Given the description of an element on the screen output the (x, y) to click on. 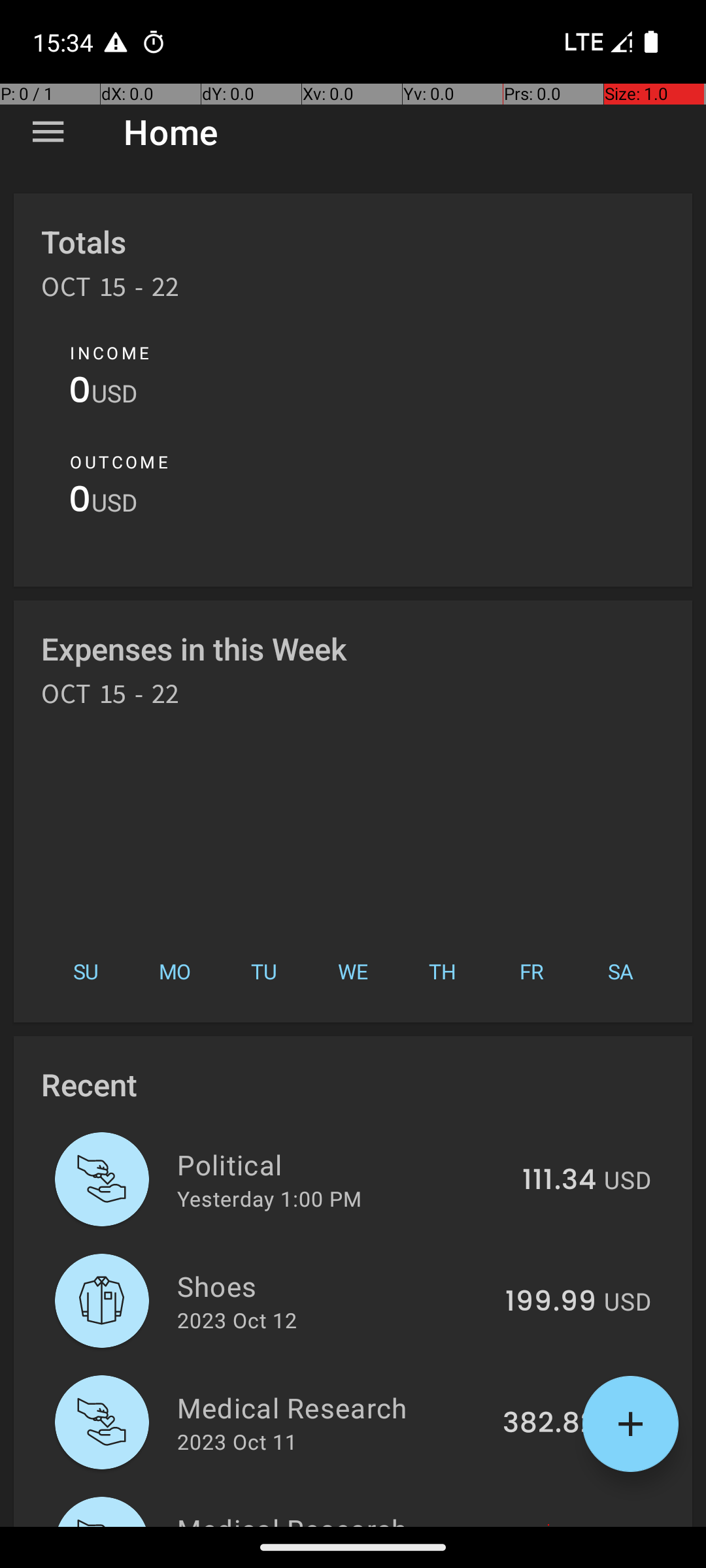
Political Element type: android.widget.TextView (341, 1164)
Yesterday 1:00 PM Element type: android.widget.TextView (269, 1198)
111.34 Element type: android.widget.TextView (558, 1180)
Shoes Element type: android.widget.TextView (333, 1285)
199.99 Element type: android.widget.TextView (550, 1301)
Medical Research Element type: android.widget.TextView (332, 1407)
382.82 Element type: android.widget.TextView (549, 1423)
